Given the description of an element on the screen output the (x, y) to click on. 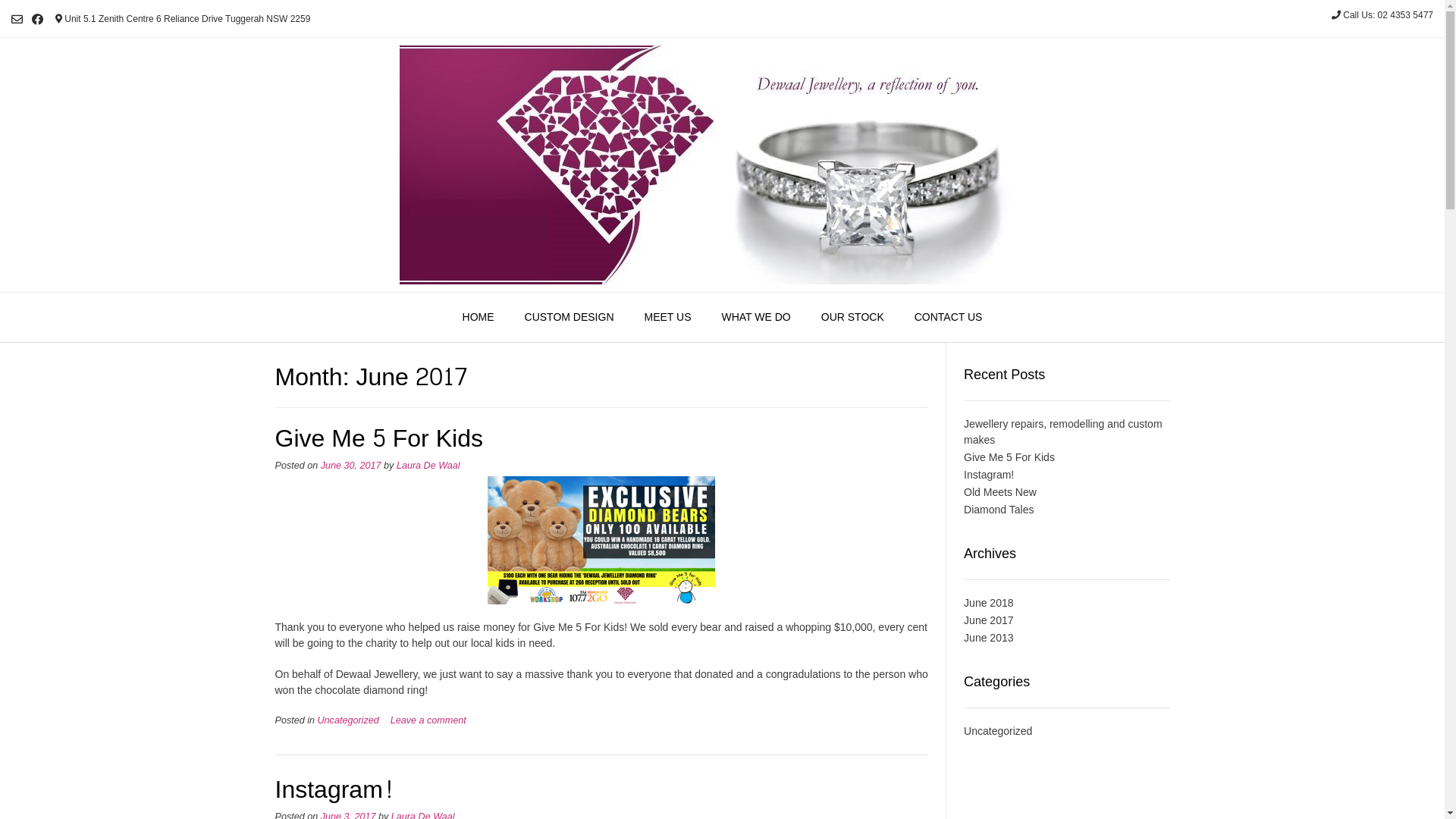
Find Us on Facebook Element type: hover (37, 19)
Instagram! Element type: text (988, 474)
Give Me 5 For Kids Element type: text (1008, 457)
Uncategorized Element type: text (348, 720)
Instagram! Element type: text (333, 790)
Uncategorized Element type: text (997, 730)
June 2018 Element type: text (988, 602)
Laura De Waal Element type: text (428, 465)
Jewellery repairs, remodelling and custom makes Element type: text (1062, 431)
Dewaal Jewellery Element type: hover (721, 164)
CONTACT US Element type: text (948, 317)
OUR STOCK Element type: text (852, 317)
June 2017 Element type: text (988, 620)
MEET US Element type: text (667, 317)
June 30, 2017 Element type: text (350, 465)
Diamond Tales Element type: text (998, 509)
June 2013 Element type: text (988, 637)
Send Us an Email Element type: hover (16, 19)
Old Meets New Element type: text (999, 492)
CUSTOM DESIGN Element type: text (569, 317)
WHAT WE DO Element type: text (756, 317)
Give Me 5 For Kids Element type: text (378, 439)
HOME Element type: text (478, 317)
Leave a comment Element type: text (428, 720)
